Given the description of an element on the screen output the (x, y) to click on. 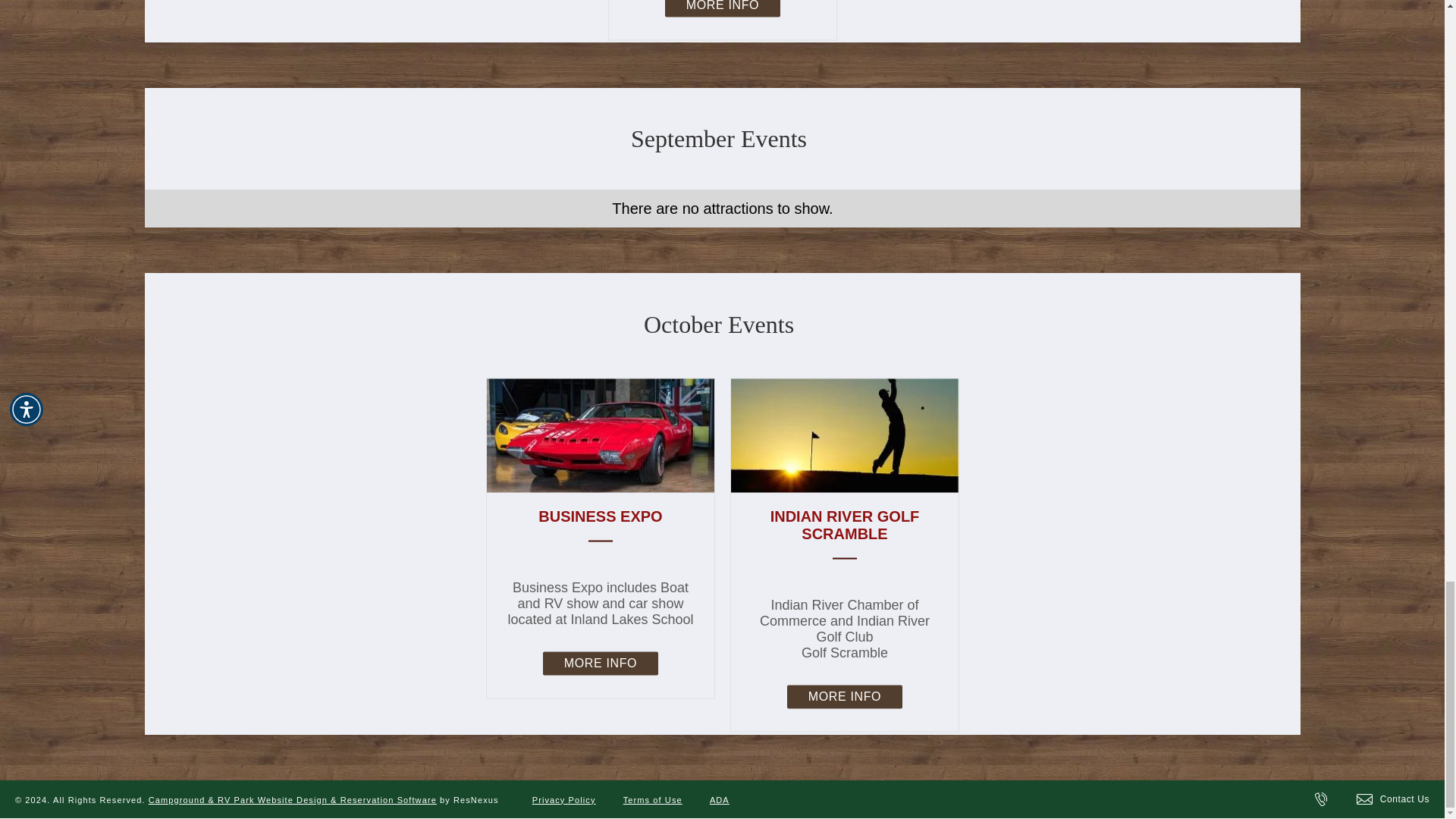
MORE INFO (720, 8)
Privacy Policy (564, 799)
Contact Us (1392, 798)
MORE INFO (599, 662)
Terms of Use (652, 799)
MORE INFO (843, 696)
ADA (718, 799)
